Given the description of an element on the screen output the (x, y) to click on. 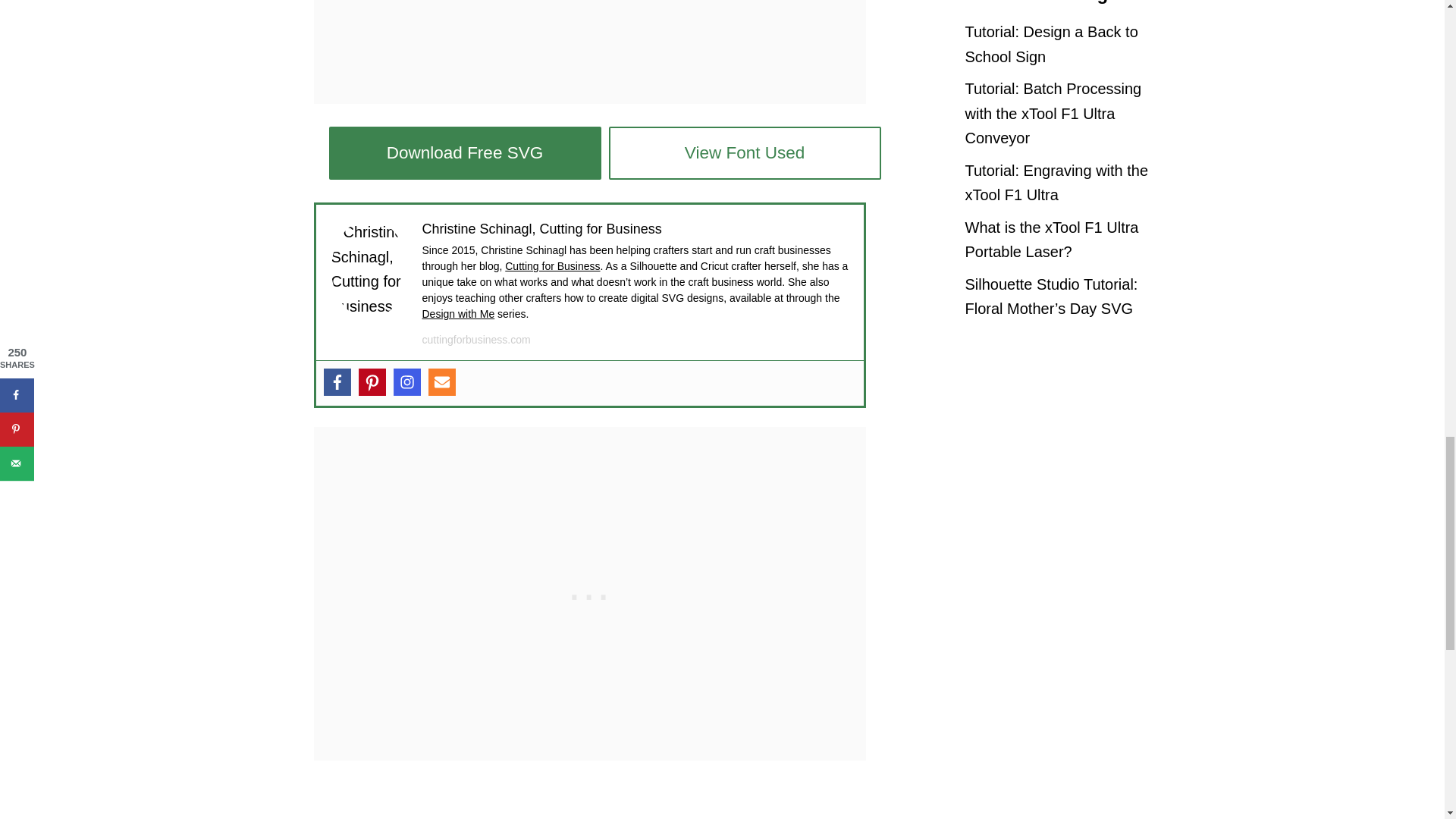
Christine Schinagl, Cutting for Business (541, 228)
Tutorial: Engraving with the xTool F1 Ultra (1062, 182)
Pinterest (371, 381)
Instagram (406, 381)
Tutorial: Batch Processing with the xTool F1 Ultra Conveyor (1062, 113)
Download Free SVG (465, 153)
User email (441, 381)
Facebook (336, 381)
Design with Me (458, 313)
Tutorial: Design a Back to School Sign (1062, 43)
View Font Used (744, 153)
cuttingforbusiness.com (475, 339)
What is the xTool F1 Ultra Portable Laser? (1062, 239)
Cutting for Business (552, 265)
